Given the description of an element on the screen output the (x, y) to click on. 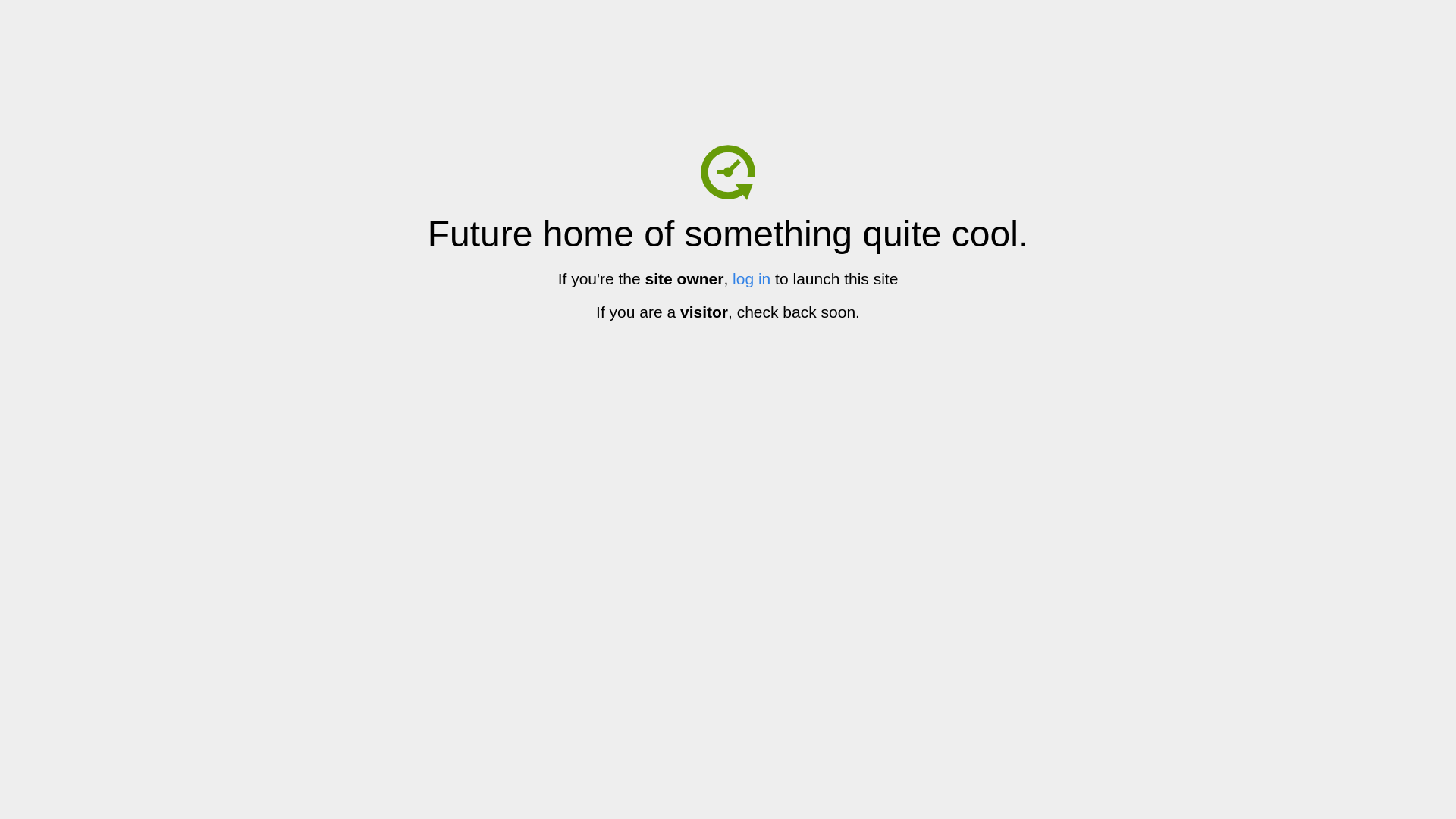
log in Element type: text (751, 278)
